Given the description of an element on the screen output the (x, y) to click on. 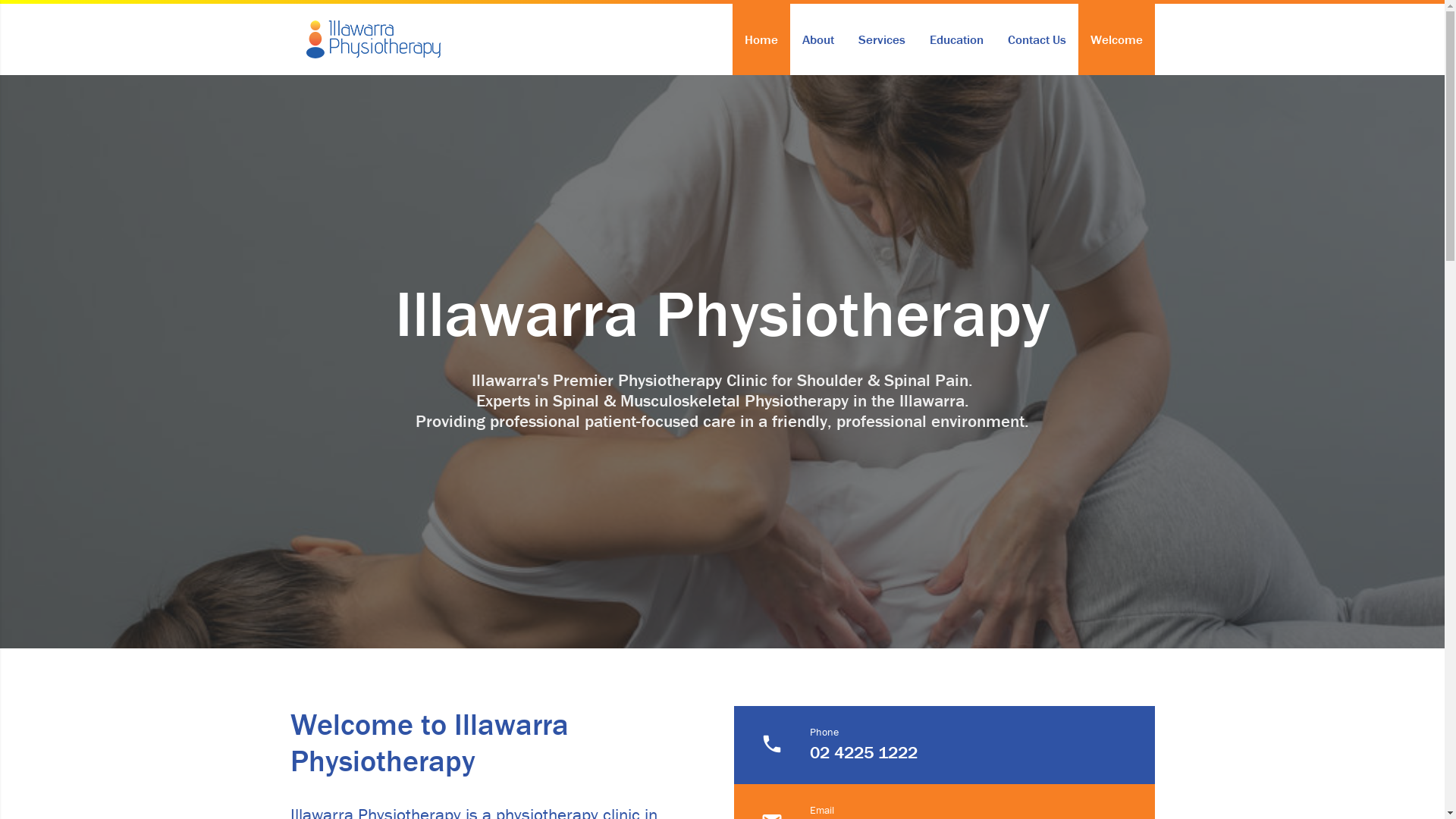
About Element type: text (818, 39)
phone
Phone
02 4225 1222 Element type: text (944, 745)
Welcome Element type: text (1116, 39)
Services Element type: text (881, 39)
Education Element type: text (956, 39)
Home Element type: text (761, 39)
Contact Us Element type: text (1035, 39)
